Given the description of an element on the screen output the (x, y) to click on. 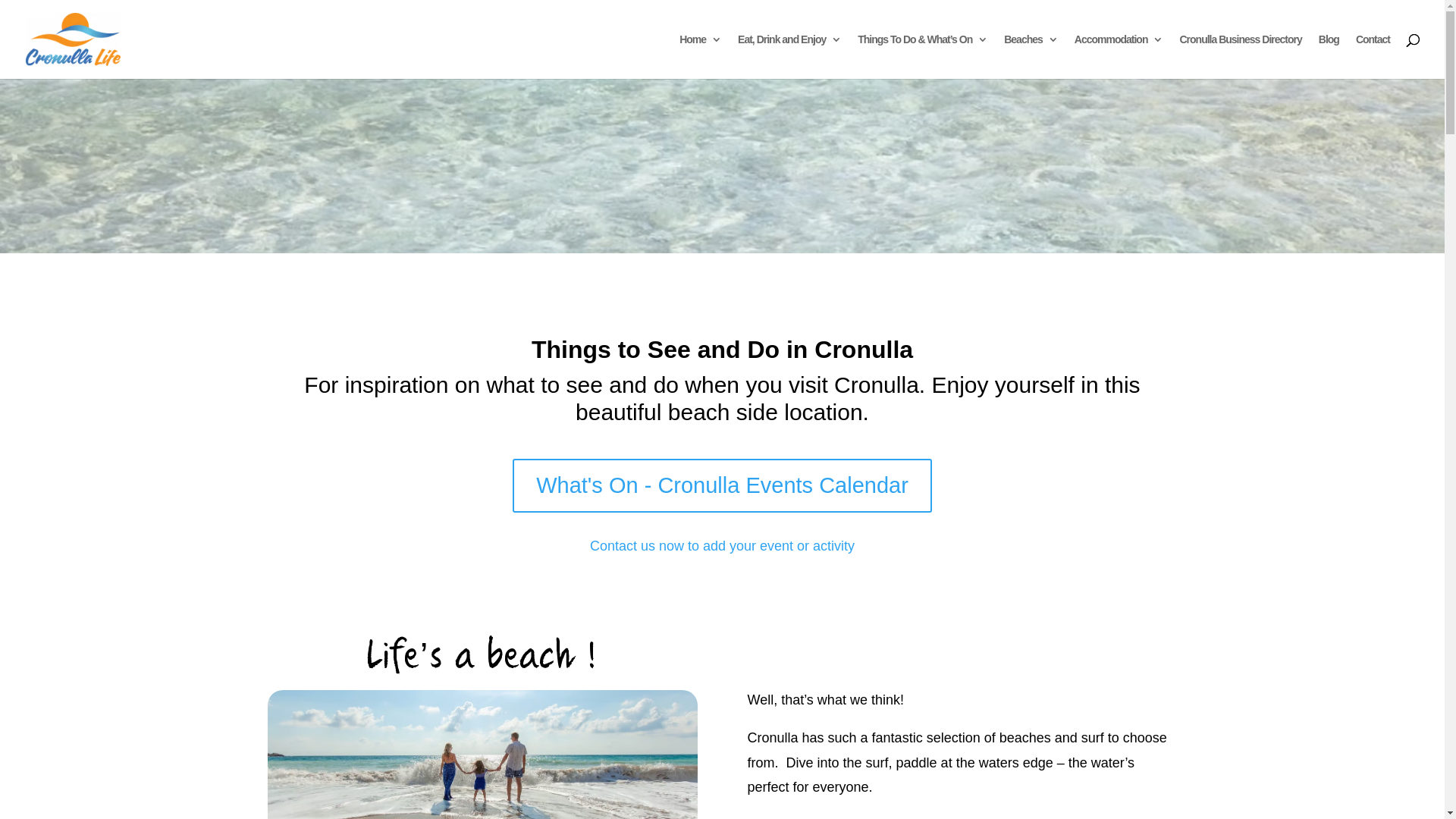
Contact us now to add your event or activity Element type: text (721, 545)
Blog Element type: text (1328, 56)
Beaches Element type: text (1030, 56)
Cronulla Business Directory Element type: text (1240, 56)
Contact Element type: text (1372, 56)
Accommodation Element type: text (1118, 56)
What's On - Cronulla Events Calendar Element type: text (721, 485)
Home Element type: text (700, 56)
Eat, Drink and Enjoy Element type: text (788, 56)
